Given the description of an element on the screen output the (x, y) to click on. 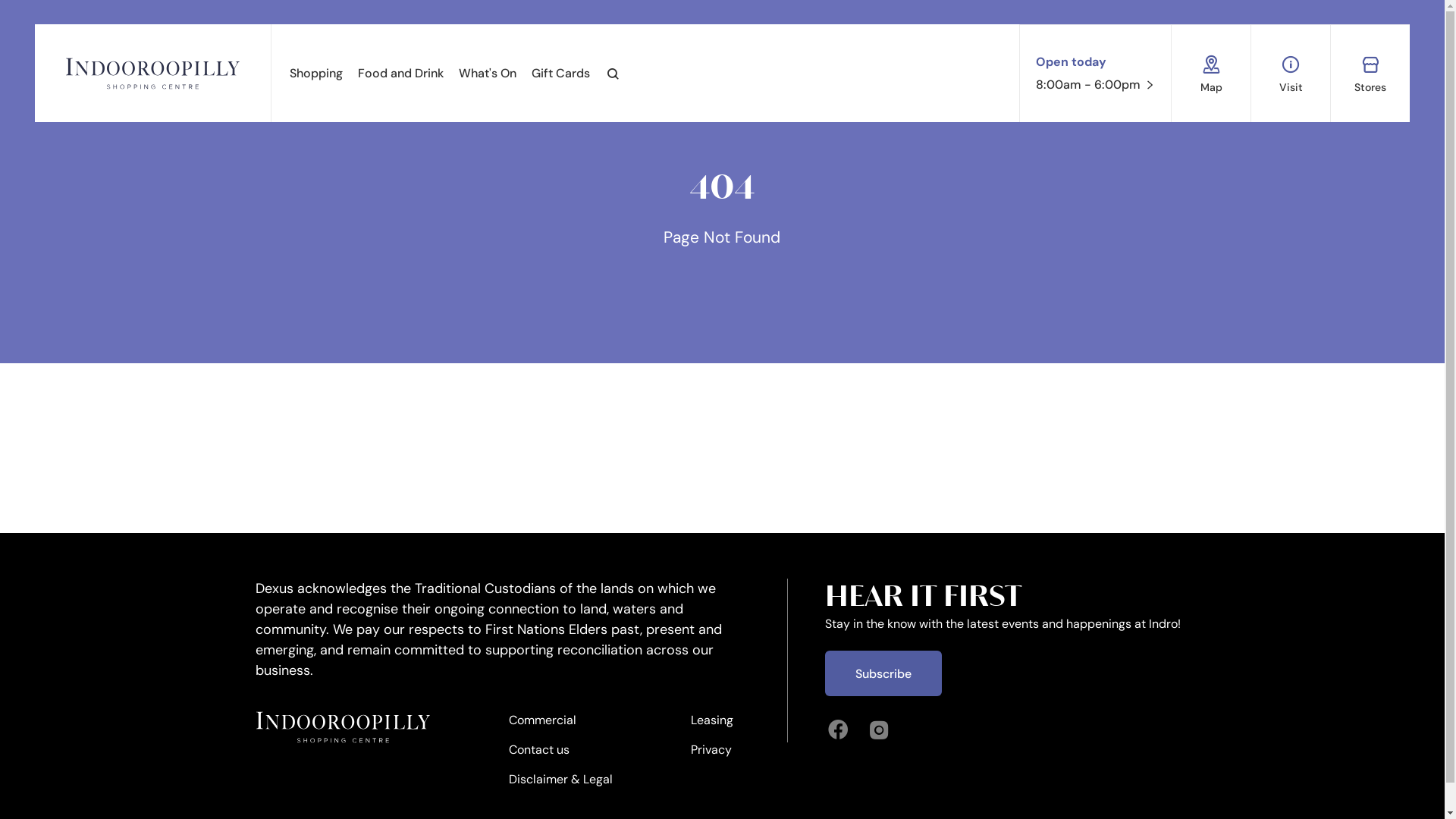
Map Element type: text (1210, 73)
Disclaimer & Legal Element type: text (560, 785)
Leasing Element type: text (711, 725)
Visit Element type: text (1290, 73)
Commercial Element type: text (560, 725)
Subscribe Element type: text (883, 673)
Contact us Element type: text (560, 755)
Shopping Element type: text (315, 73)
Food and Drink Element type: text (400, 73)
What's On Element type: text (487, 73)
Privacy Element type: text (711, 755)
Stores Element type: text (1370, 73)
Open today
8:00am - 6:00pm Element type: text (1095, 73)
Gift Cards Element type: text (560, 73)
